Given the description of an element on the screen output the (x, y) to click on. 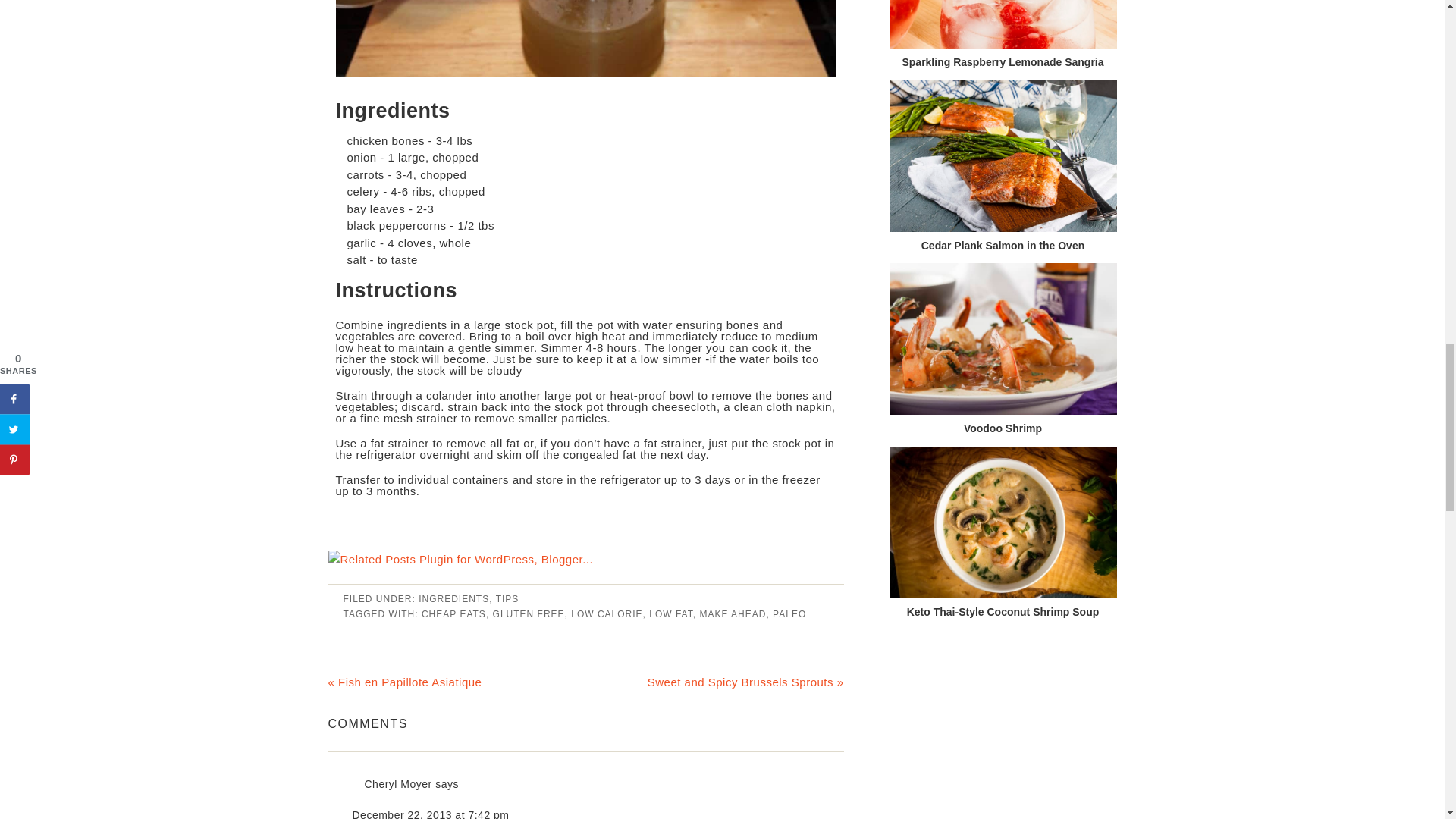
MAKE AHEAD (731, 613)
LOW CALORIE (606, 613)
PALEO (789, 613)
LOW FAT (671, 613)
INGREDIENTS (454, 598)
CHEAP EATS (454, 613)
GLUTEN FREE (528, 613)
TIPS (507, 598)
December 22, 2013 at 7:42 pm (430, 814)
Make Your Own Chicken Stock (584, 38)
